Given the description of an element on the screen output the (x, y) to click on. 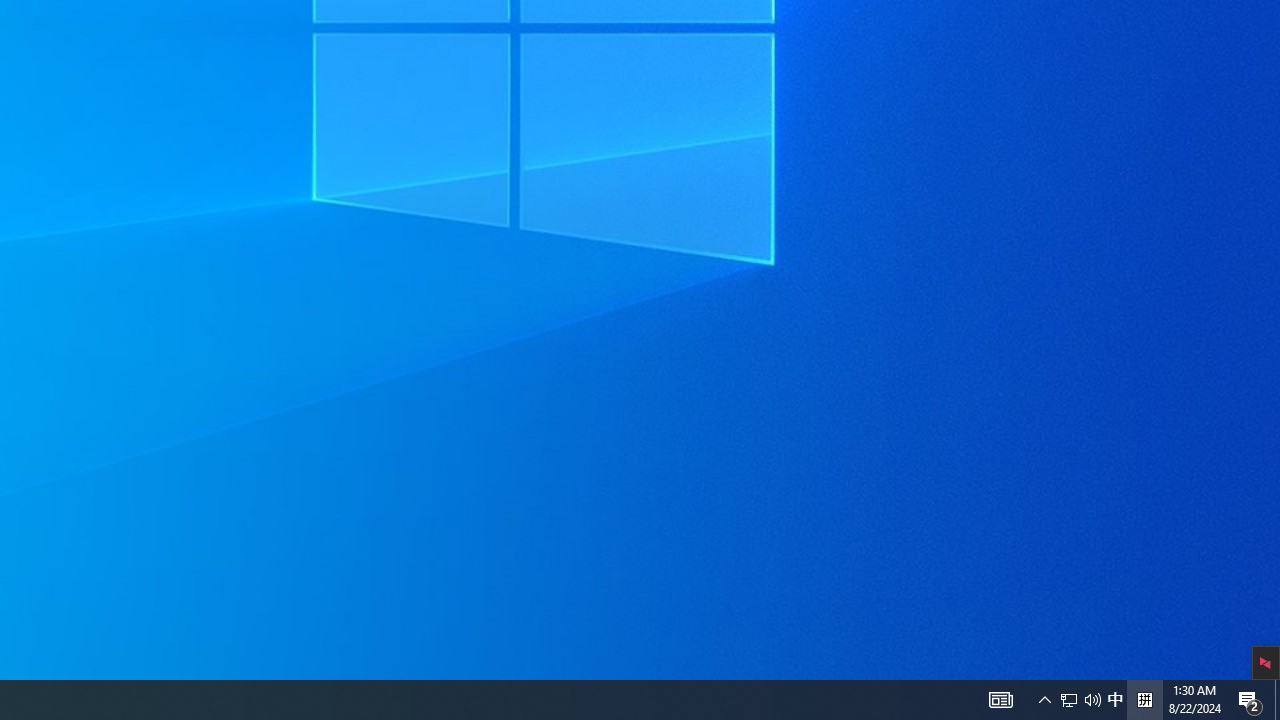
Action Center, 2 new notifications (1250, 699)
Notification Chevron (1044, 699)
AutomationID: 4105 (1000, 699)
Show desktop (1277, 699)
User Promoted Notification Area (1069, 699)
Tray Input Indicator - Chinese (Simplified, China) (1115, 699)
Q2790: 100% (1080, 699)
